Given the description of an element on the screen output the (x, y) to click on. 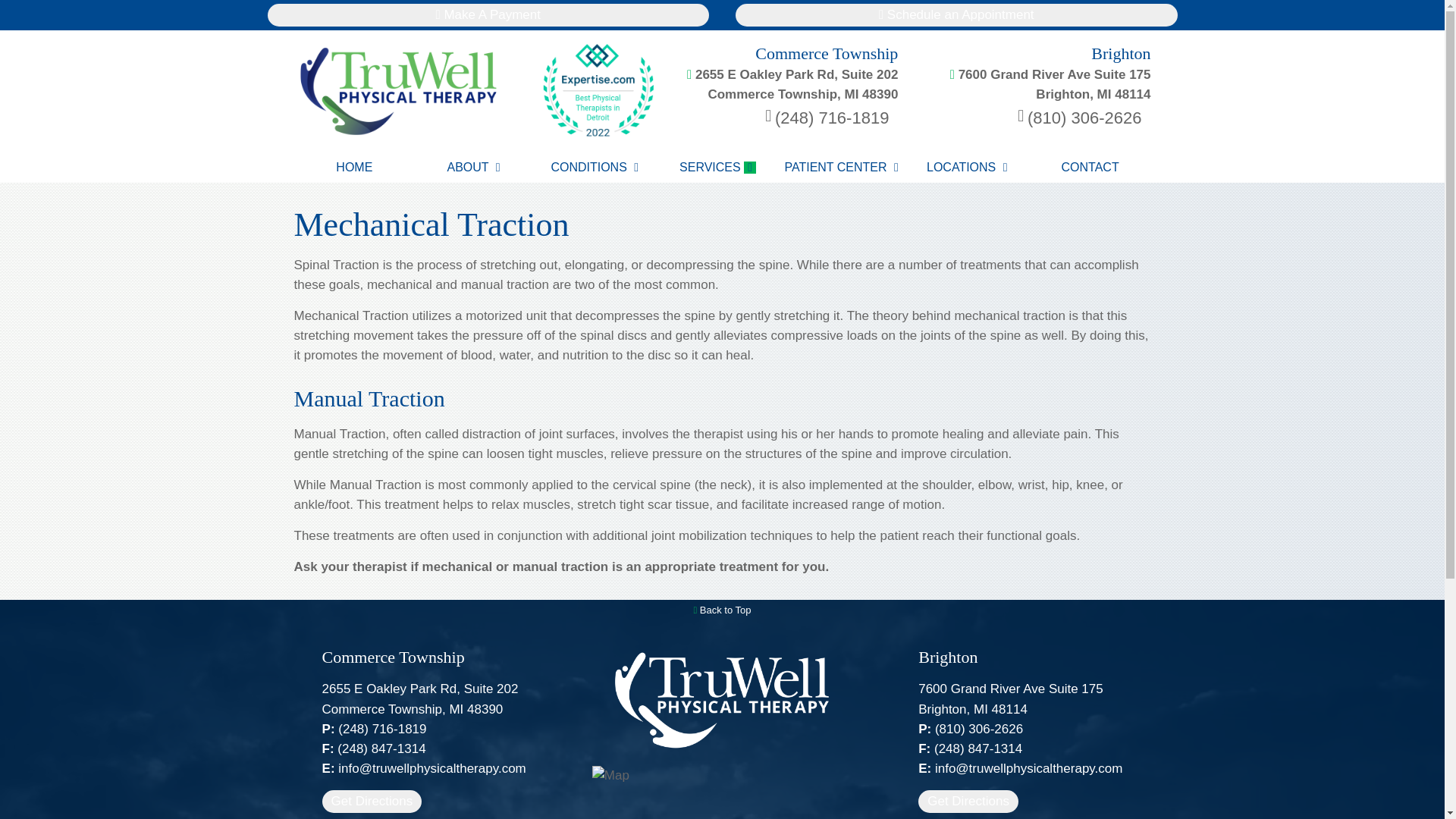
Request Appointment (956, 15)
Request Appointment (487, 15)
CONDITIONS (1037, 73)
Back to Top (596, 167)
Schedule an Appointment (722, 609)
HOME (956, 15)
Make A Payment (354, 167)
SERVICES (487, 15)
ABOUT (718, 167)
